Given the description of an element on the screen output the (x, y) to click on. 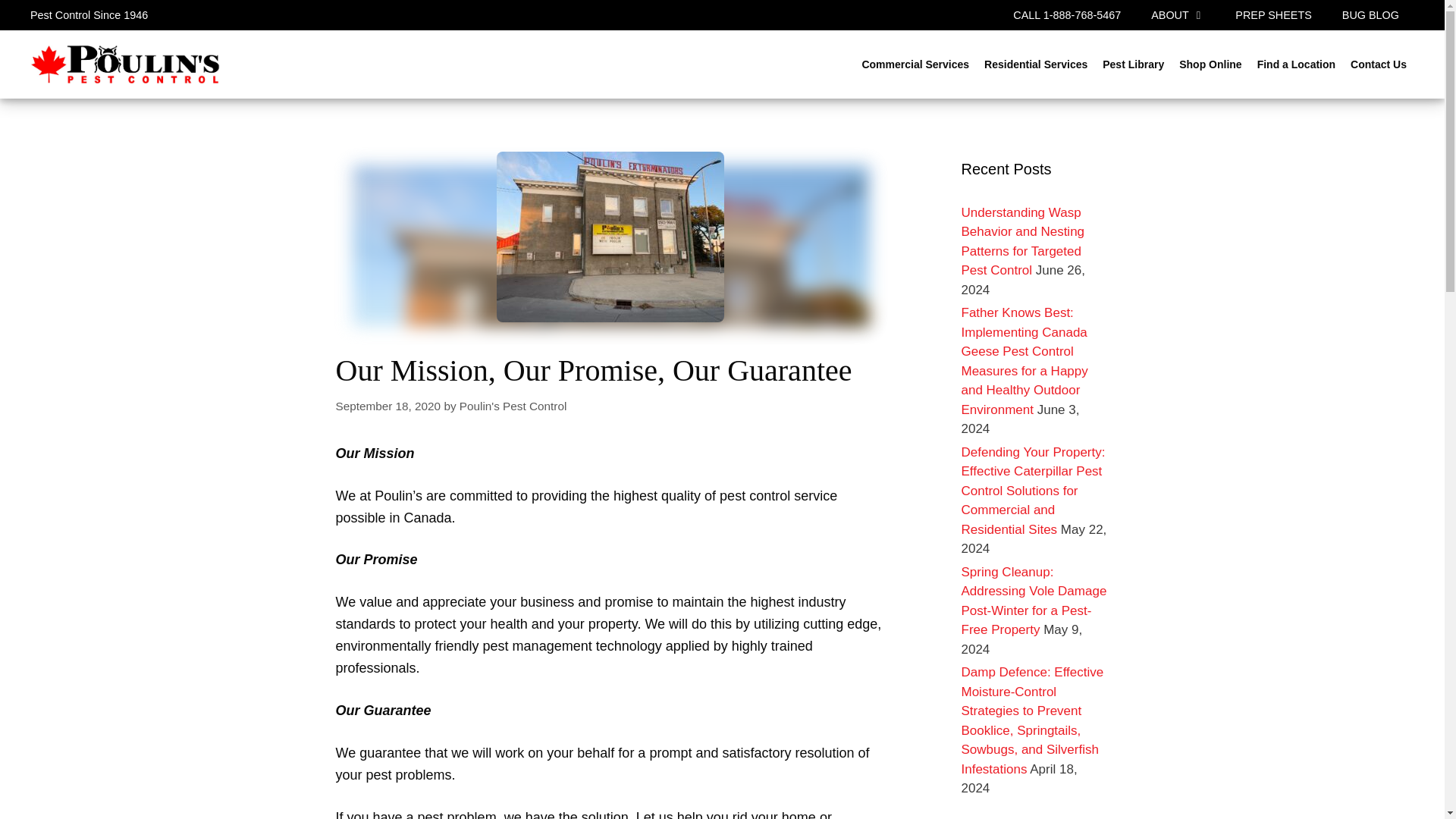
Residential Services (1035, 64)
Poulin's Pest Control (513, 405)
Search for: (1034, 63)
View all posts by Poulin's Pest Control (513, 405)
Pest Library (1133, 64)
Contact Us (1377, 64)
Shop Online (1210, 64)
CALL 1-888-768-5467 (1066, 15)
Find a Location (1295, 64)
ABOUT (1177, 15)
